Given the description of an element on the screen output the (x, y) to click on. 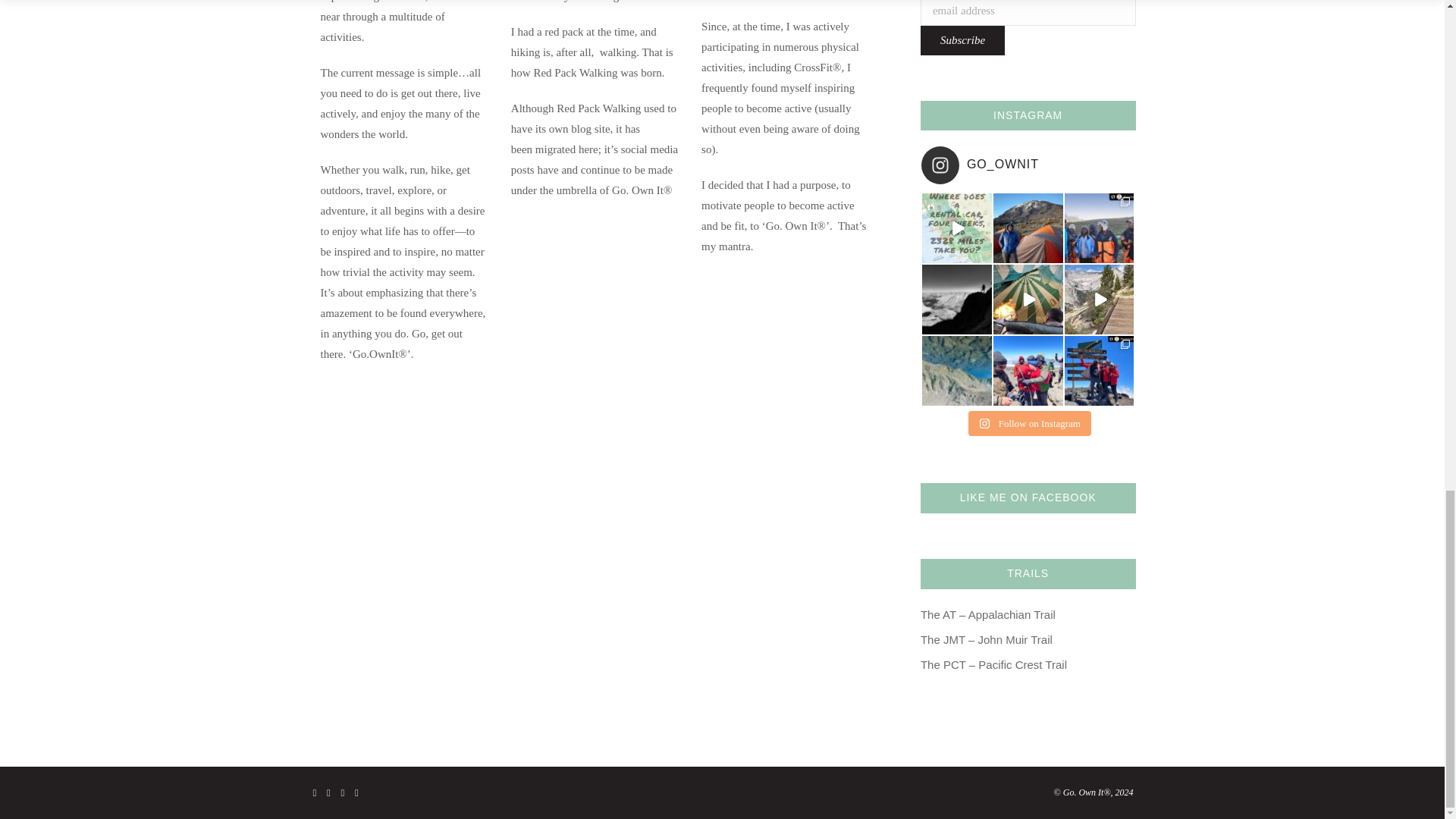
Subscribe (962, 40)
